Given the description of an element on the screen output the (x, y) to click on. 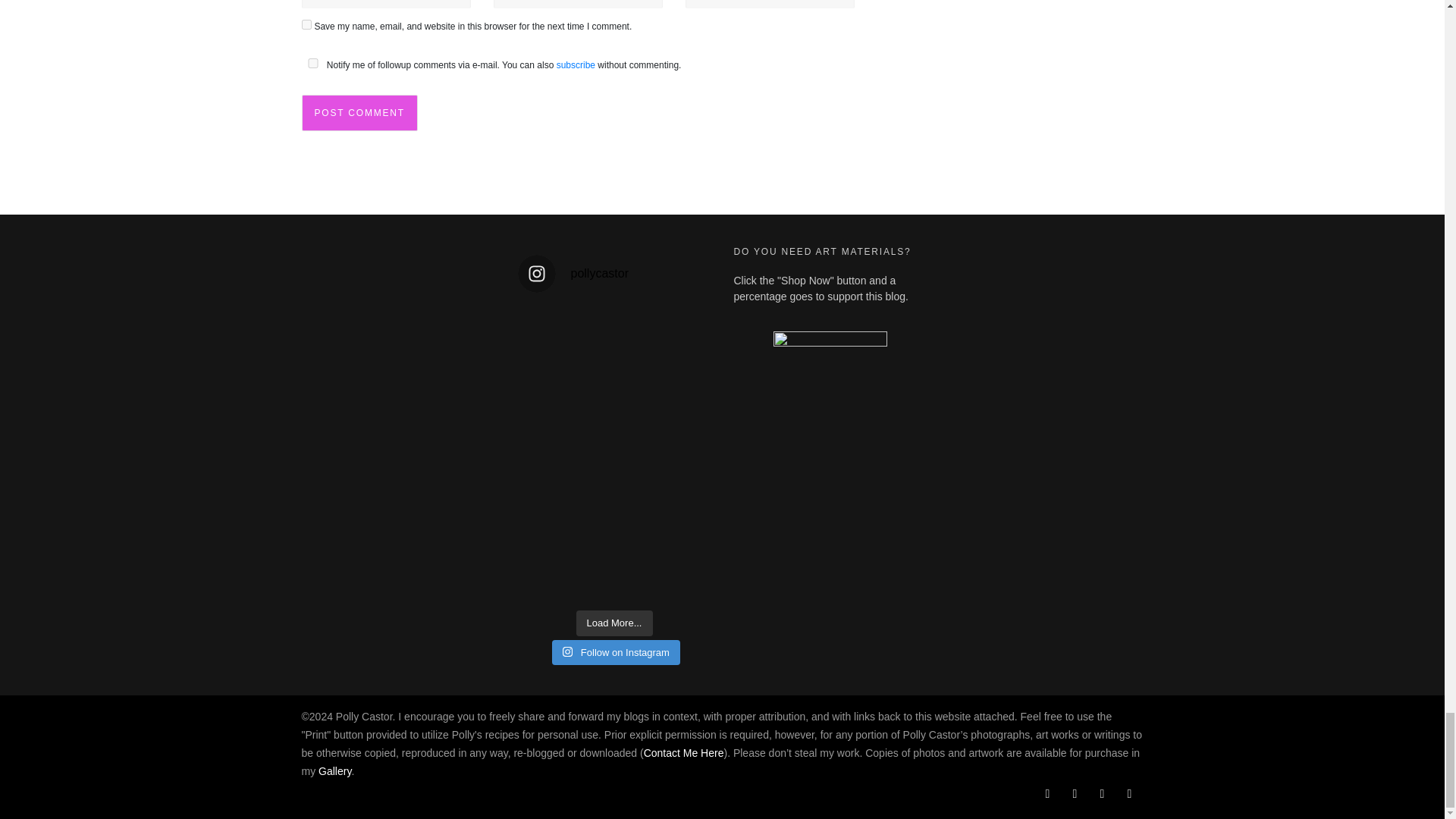
yes (312, 62)
yes (306, 24)
Post comment (359, 113)
